Given the description of an element on the screen output the (x, y) to click on. 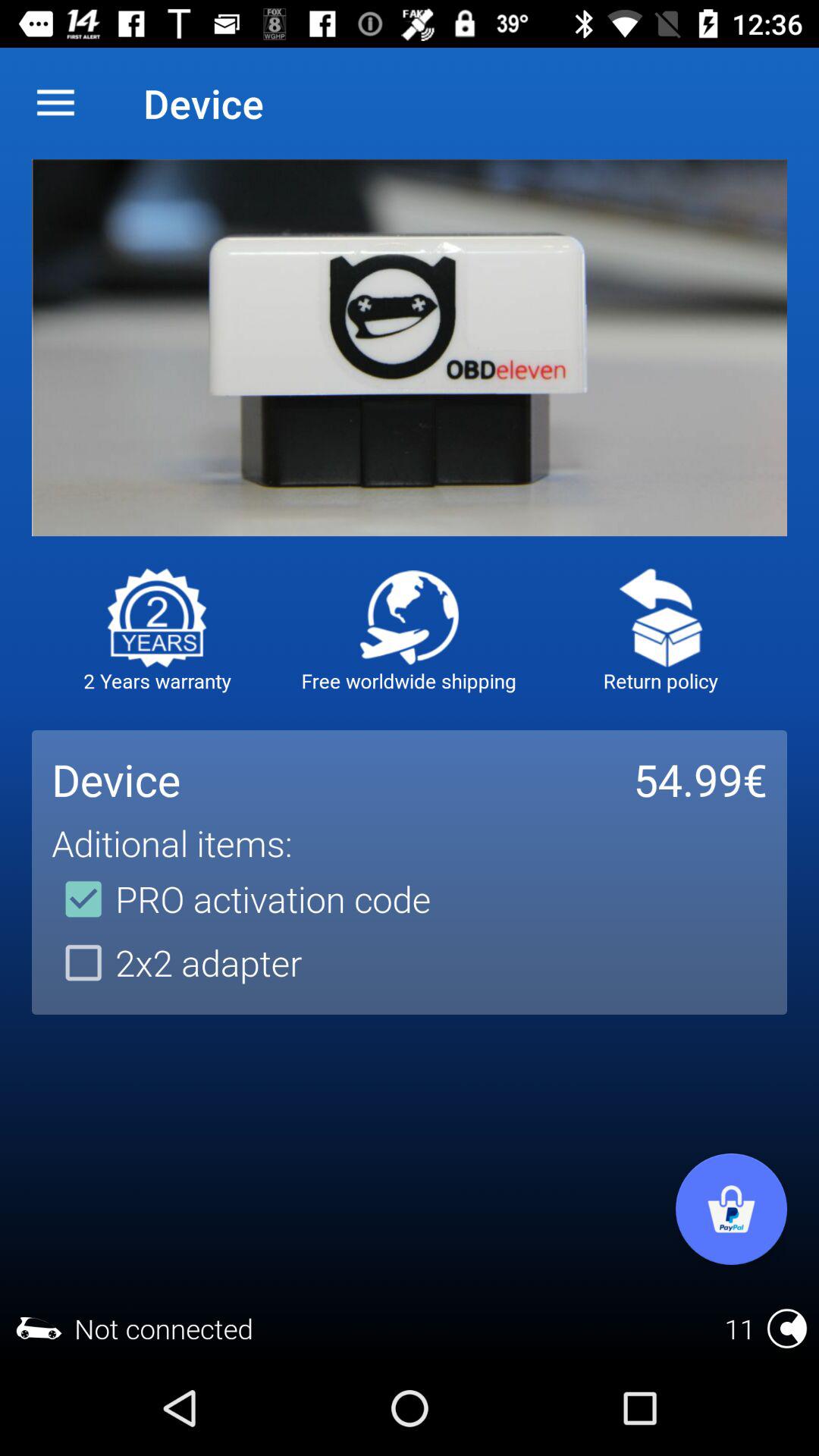
open the item to the left of device icon (55, 103)
